Given the description of an element on the screen output the (x, y) to click on. 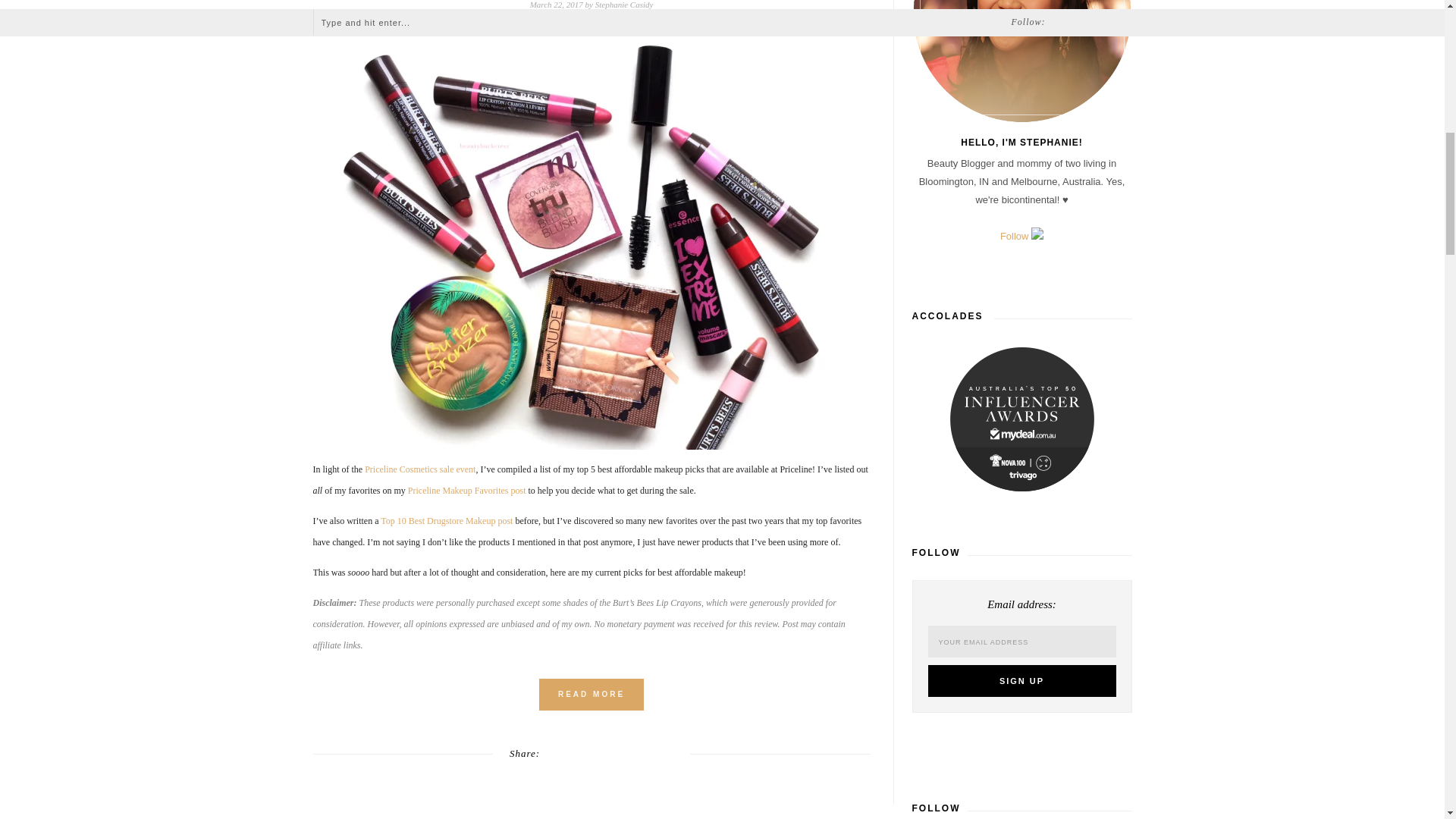
Posts by Stephanie Casidy (624, 4)
MyDeal.com.au (1021, 422)
Sign up (1022, 680)
MyDeal.com.au (1021, 419)
